Given the description of an element on the screen output the (x, y) to click on. 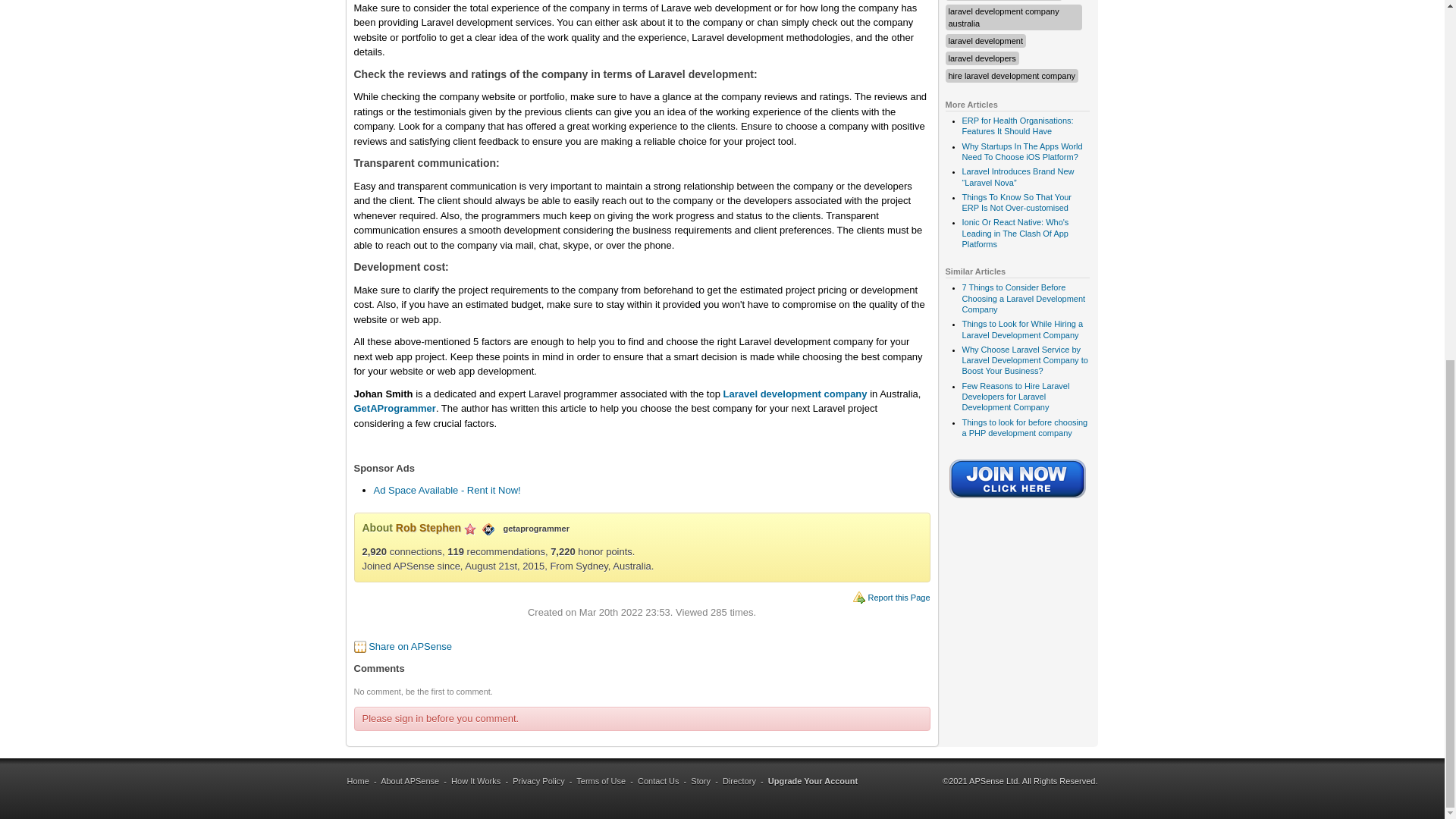
Why Startups In The Apps World Need To Choose iOS Platform? (1020, 151)
Laravel development company (795, 393)
GetAProgrammer (394, 408)
Rob Stephen (428, 527)
Magnate I (470, 529)
Things to look for before choosing a PHP development company (1023, 427)
View Business Center (488, 527)
Share on APSense (409, 645)
